Given the description of an element on the screen output the (x, y) to click on. 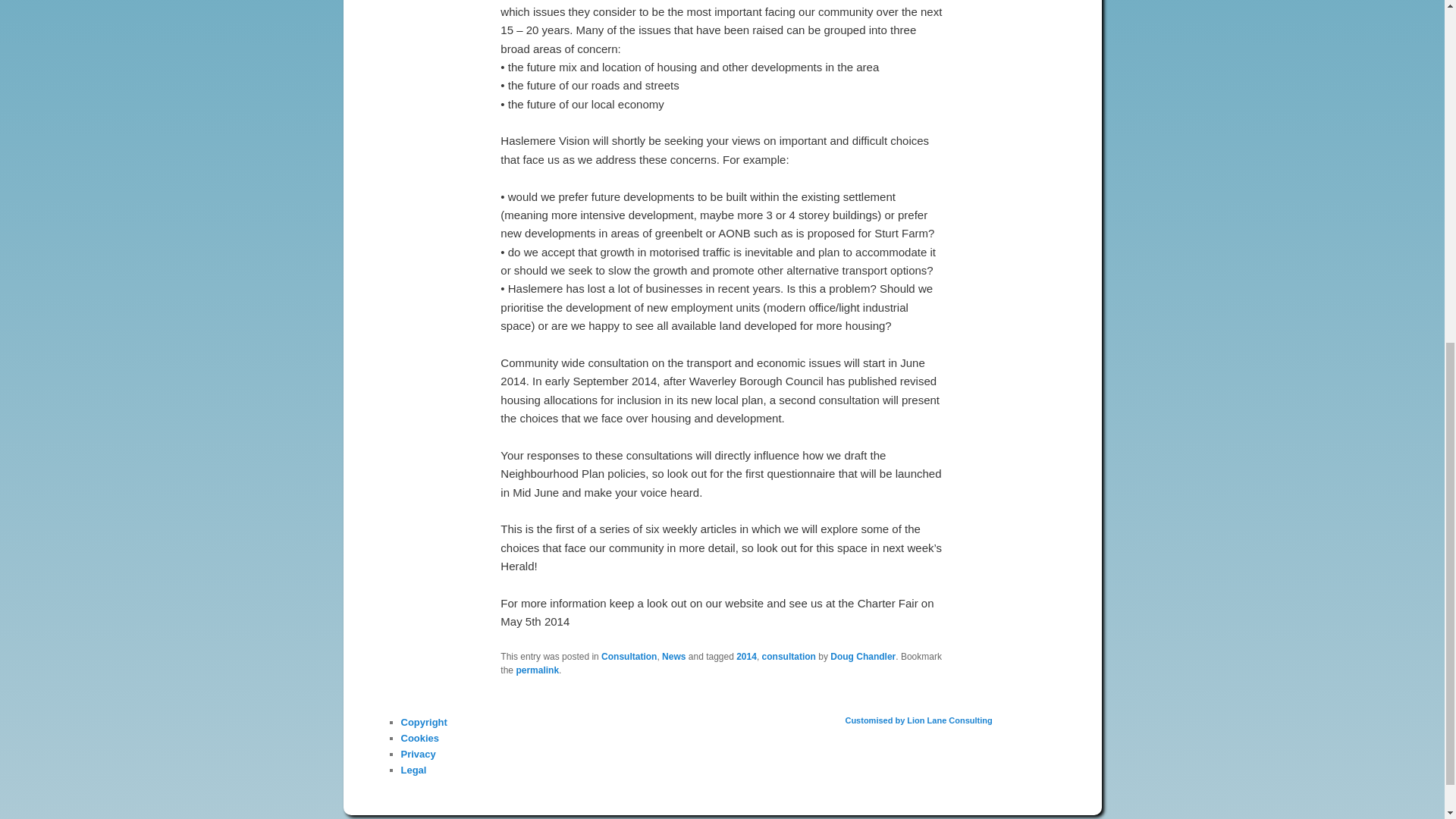
2014 (746, 656)
Doug Chandler (862, 656)
Consultation (628, 656)
consultation (788, 656)
News (673, 656)
permalink (537, 670)
